Given the description of an element on the screen output the (x, y) to click on. 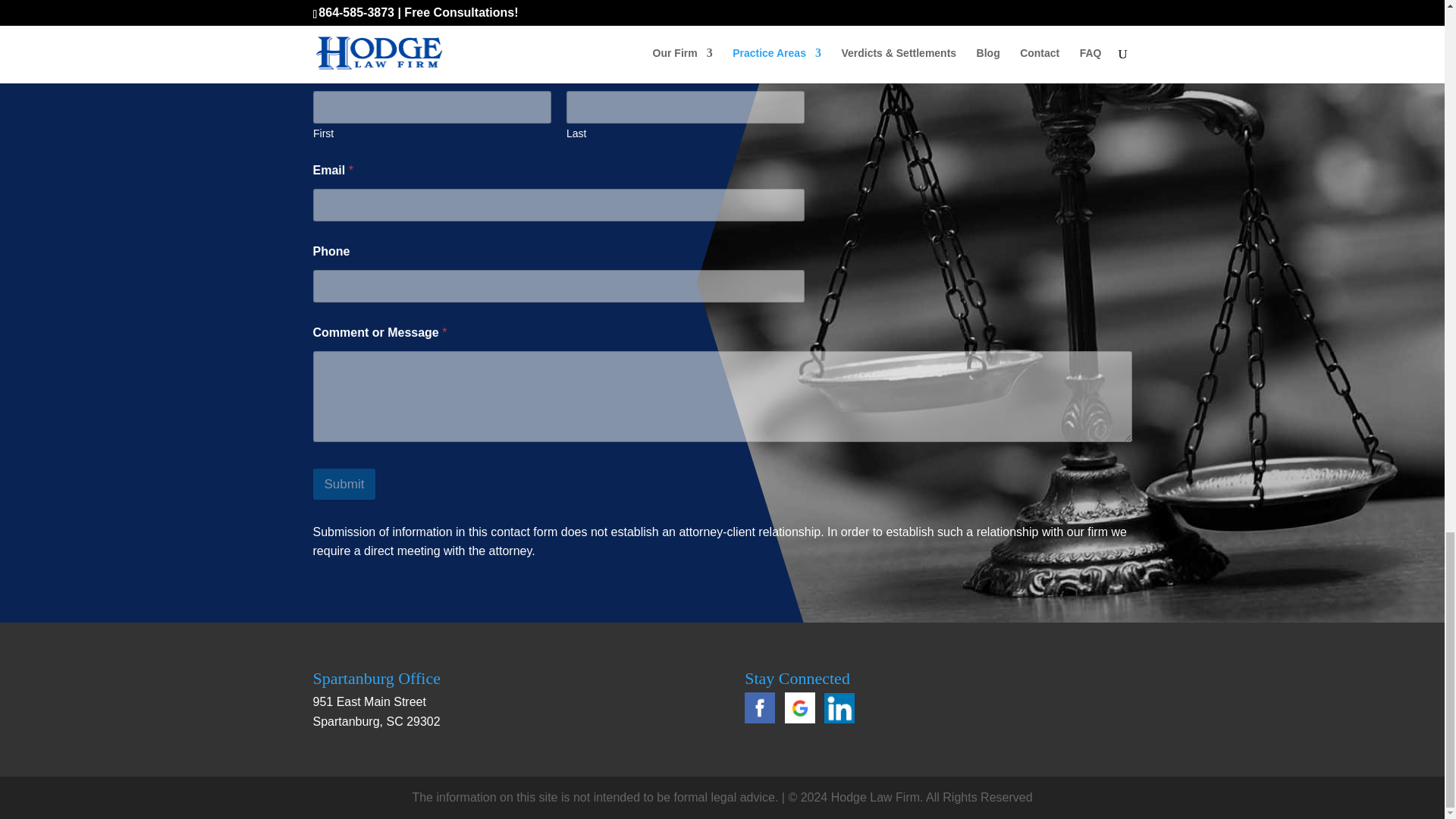
Submit (344, 483)
Hodge Law Firm Linkedin (839, 718)
